Given the description of an element on the screen output the (x, y) to click on. 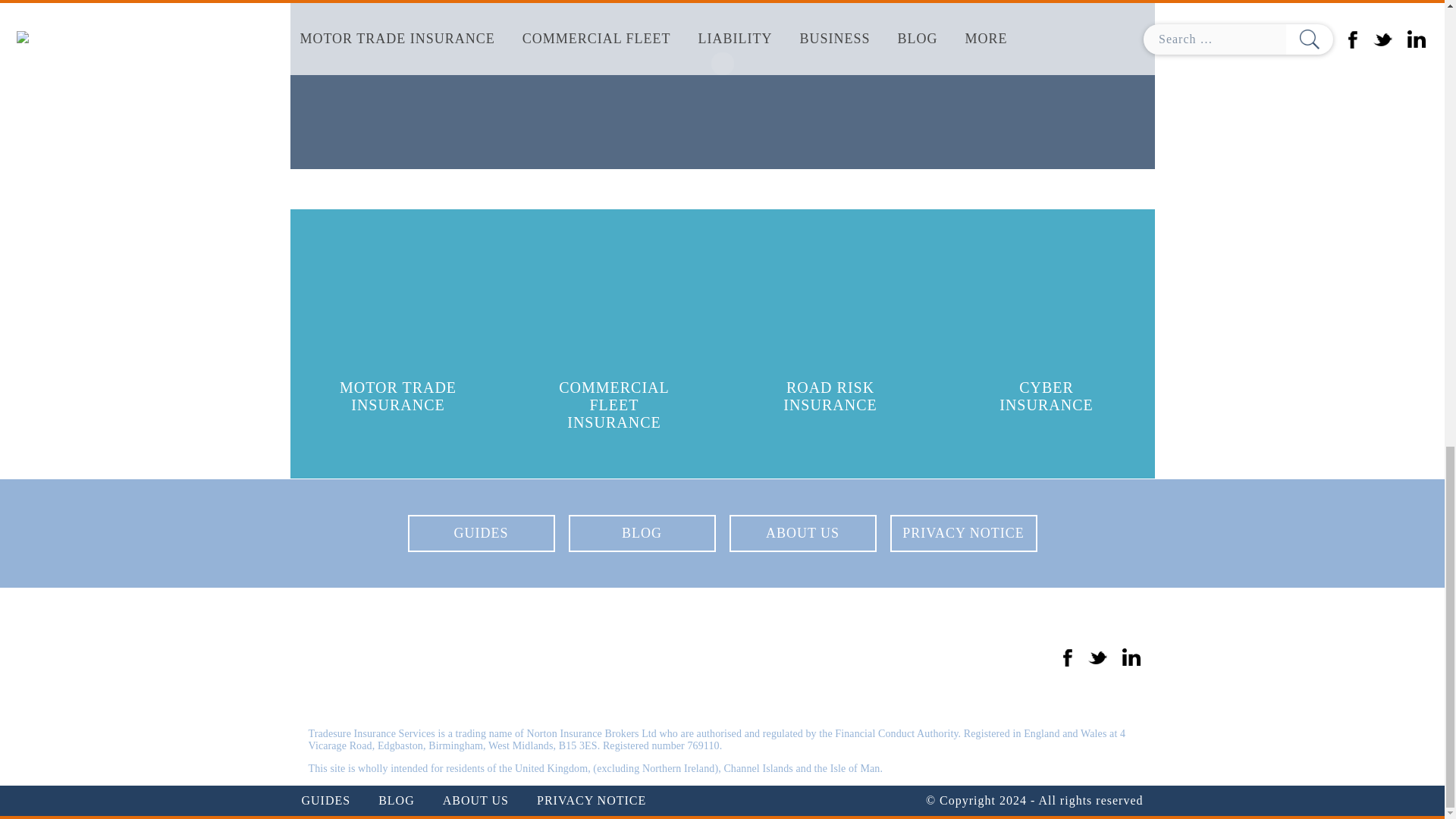
Tradesure Insurance (415, 657)
